Given the description of an element on the screen output the (x, y) to click on. 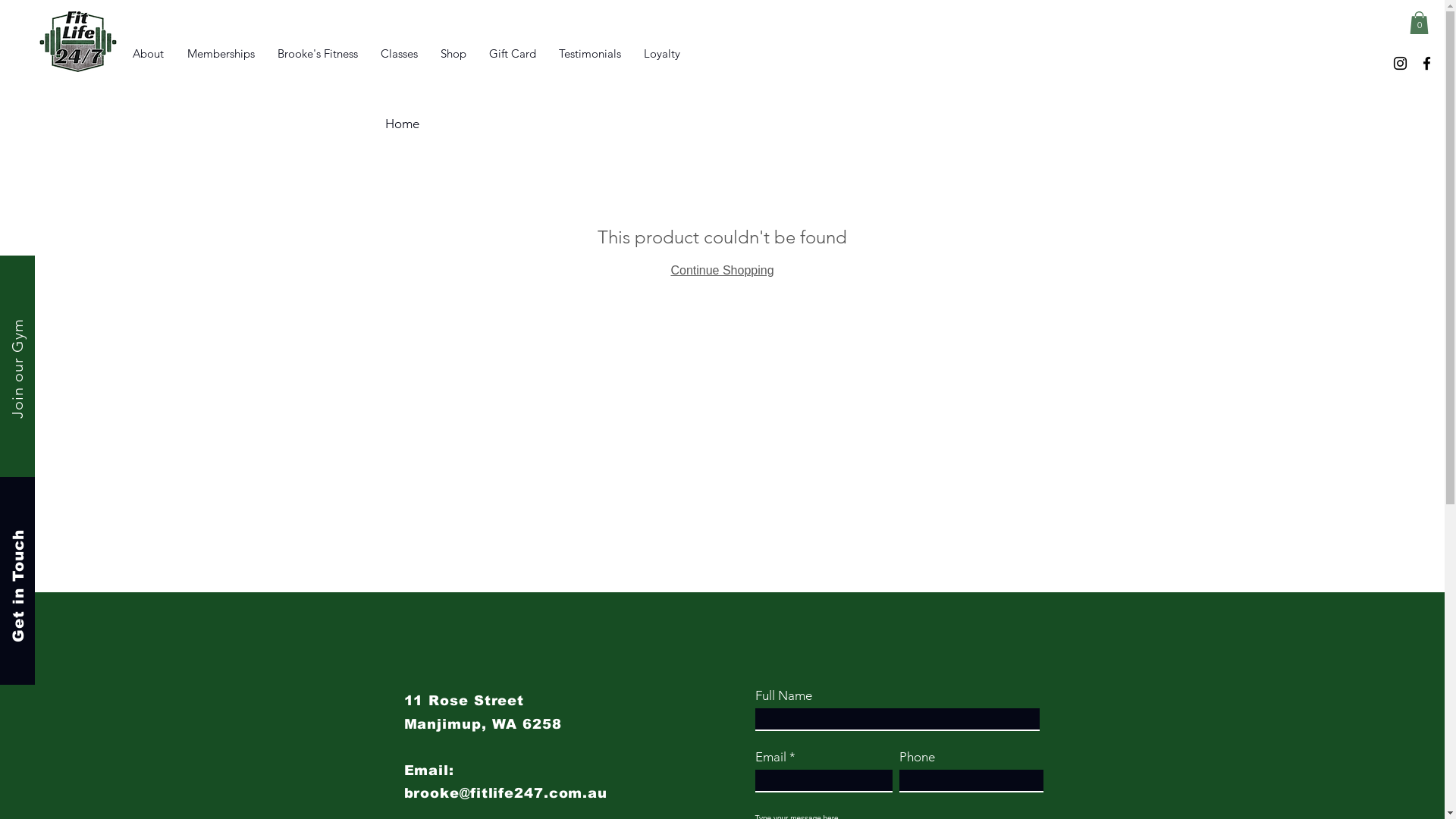
Shop Element type: text (453, 53)
brooke@fitlife247.com.au Element type: text (505, 792)
0 Element type: text (1418, 22)
Classes Element type: text (399, 53)
About Element type: text (147, 53)
Join our Gym Element type: text (58, 327)
Home Element type: text (402, 123)
Continue Shopping Element type: text (721, 269)
Get in Touch  Element type: text (68, 530)
Memberships Element type: text (220, 53)
Testimonials Element type: text (589, 53)
Gift Card Element type: text (512, 53)
Brooke's Fitness Element type: text (317, 53)
Loyalty Element type: text (661, 53)
